Given the description of an element on the screen output the (x, y) to click on. 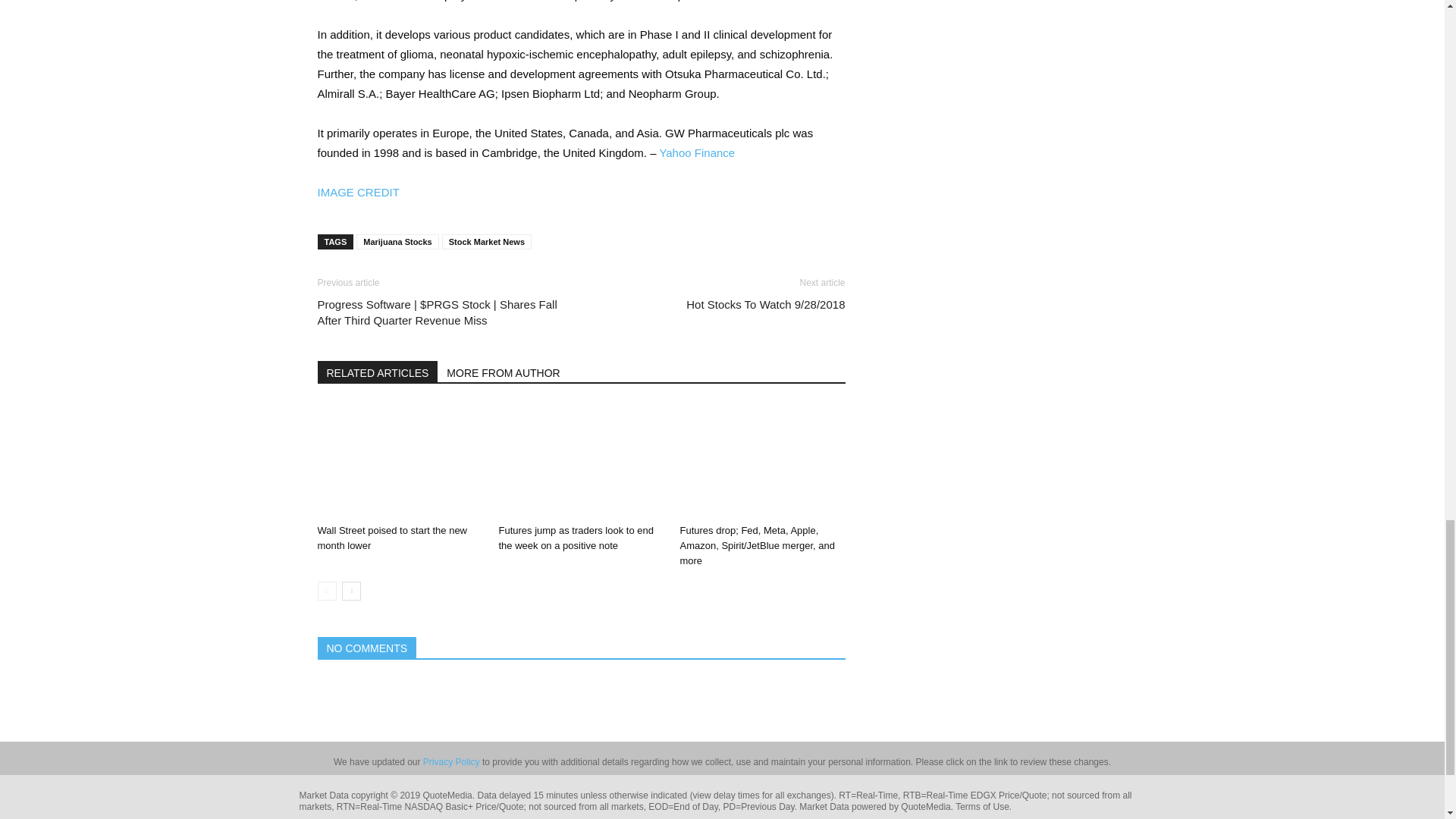
Wall Street poised to start the new month lower (392, 537)
Wall Street poised to start the new month lower (399, 460)
